Given the description of an element on the screen output the (x, y) to click on. 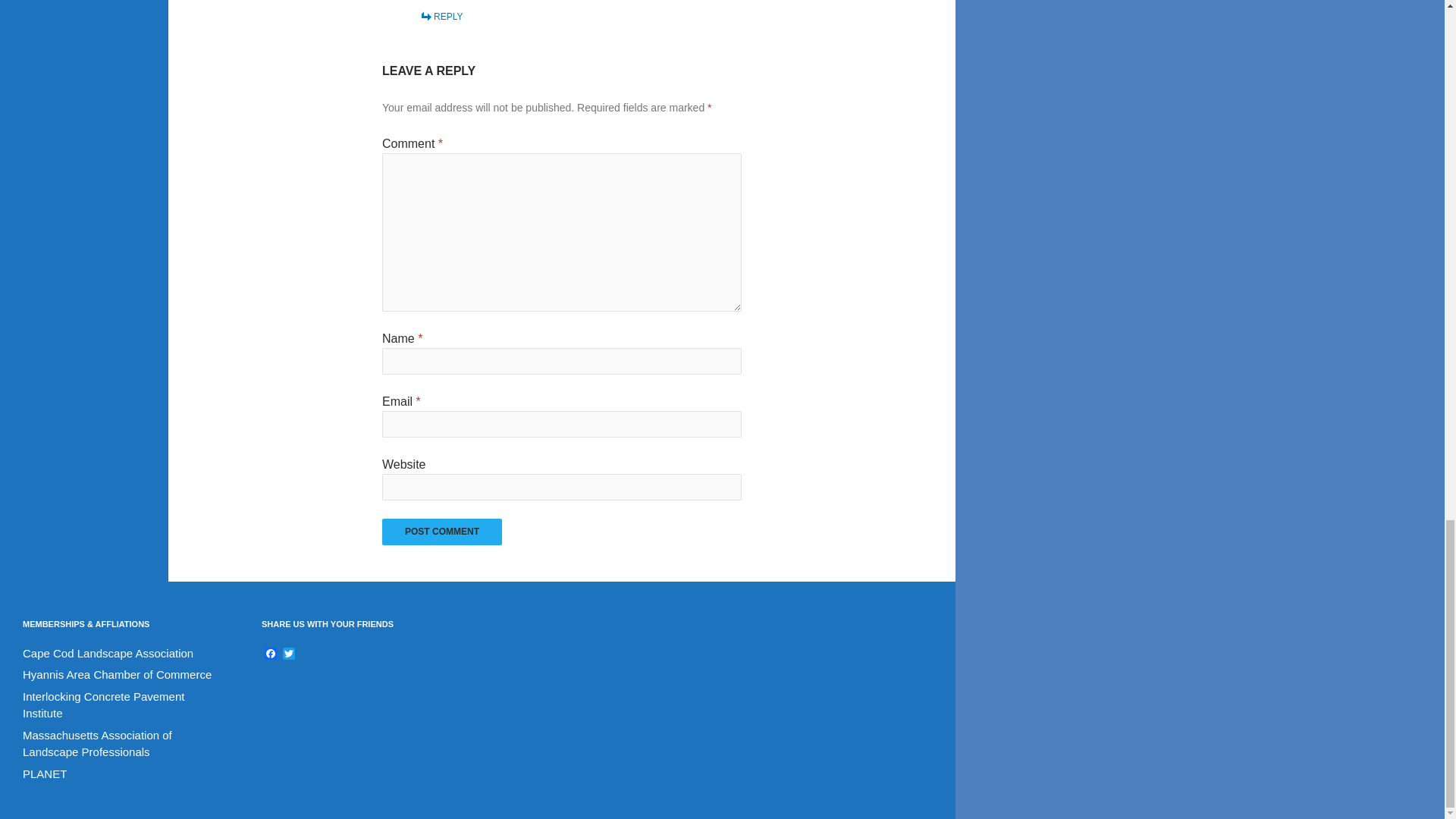
Twitter (288, 653)
Post Comment (441, 531)
REPLY (441, 16)
Facebook (270, 653)
Post Comment (441, 531)
